Given the description of an element on the screen output the (x, y) to click on. 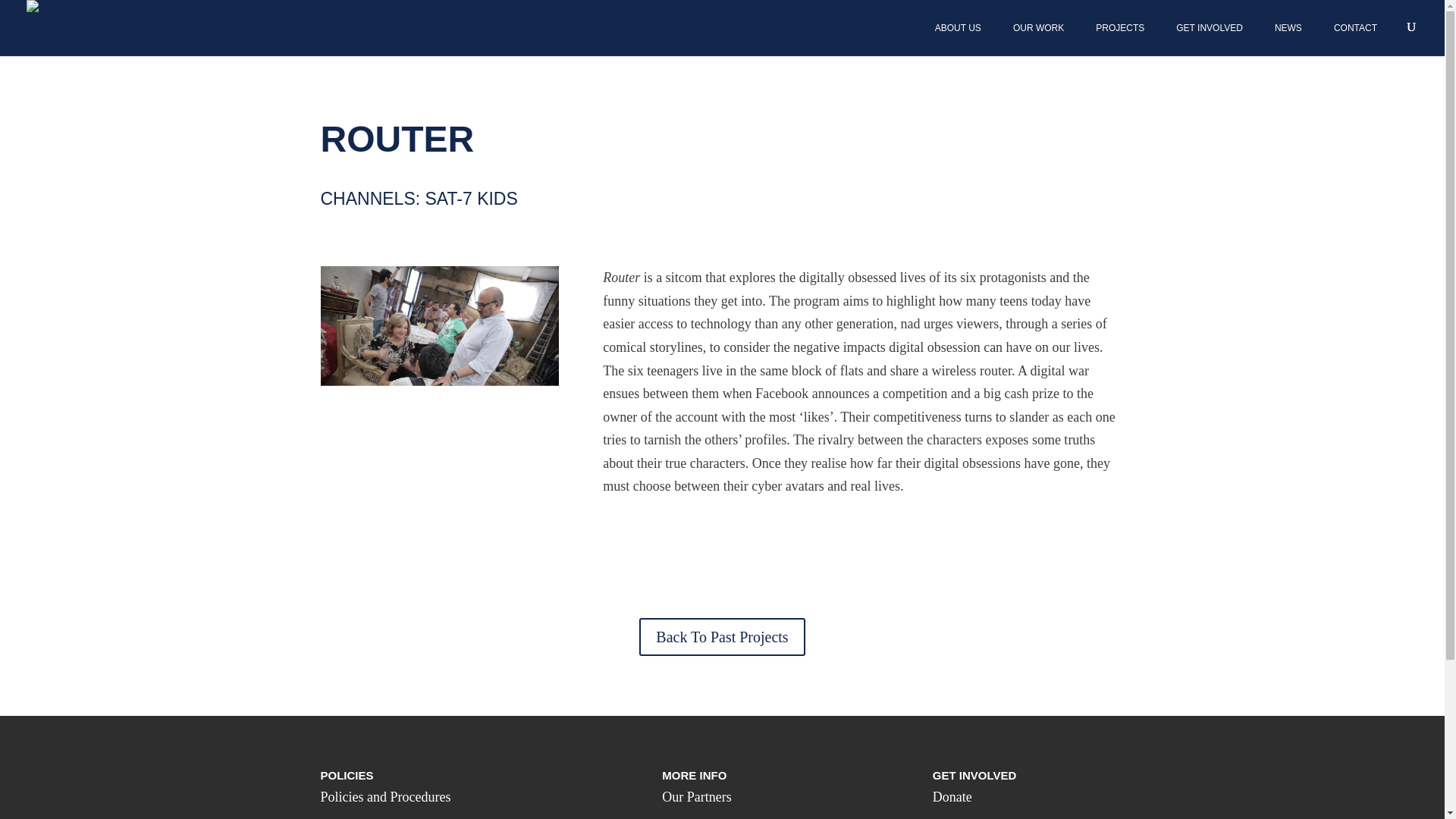
Back To Past Projects (722, 637)
ABOUT US (958, 28)
NEWS (1289, 28)
Donate (952, 796)
CONTACT (1355, 28)
Volunteer (959, 817)
History (682, 817)
PROJECTS (1120, 28)
GET INVOLVED (1210, 28)
OUR WORK (1039, 28)
